Given the description of an element on the screen output the (x, y) to click on. 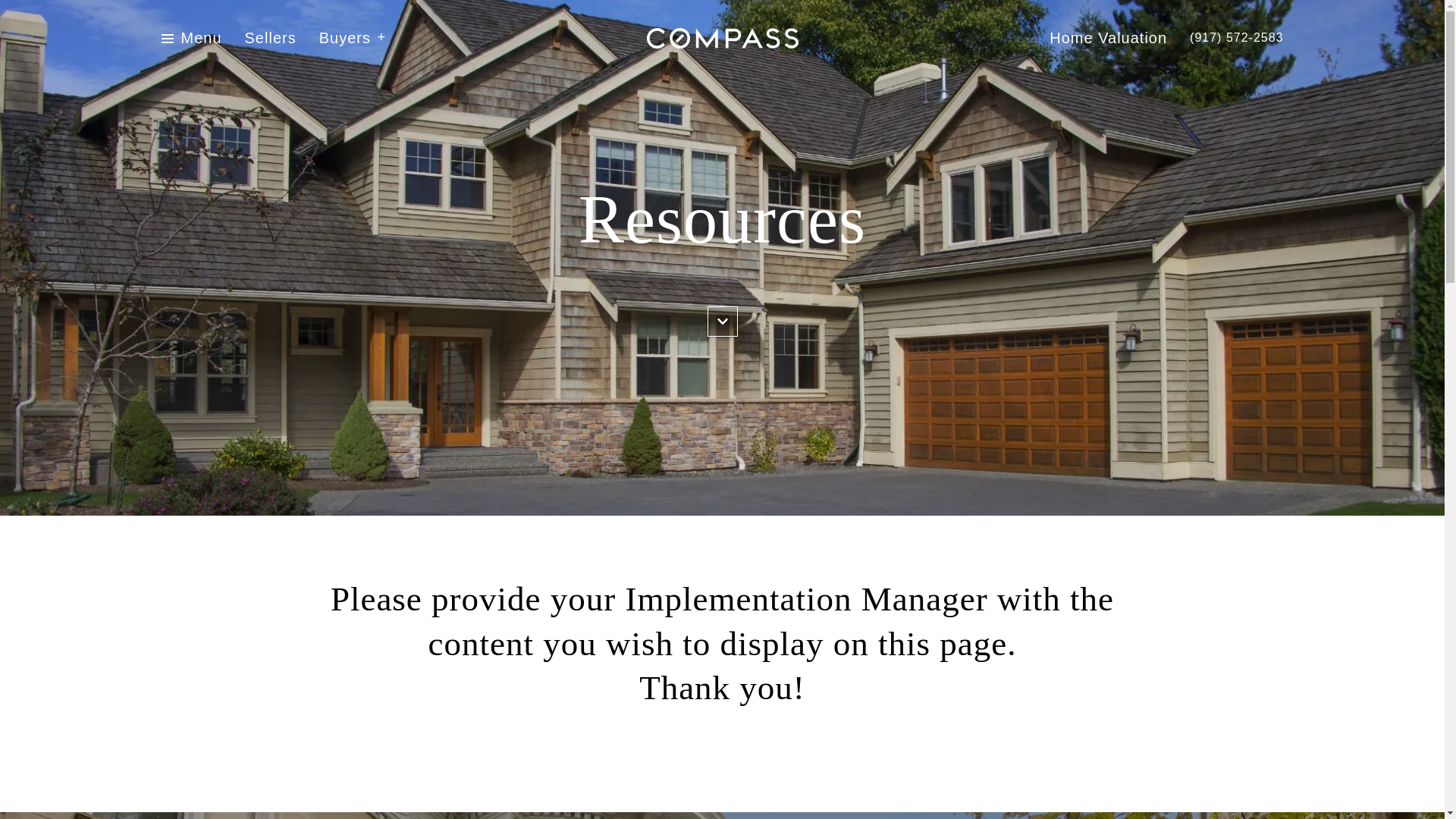
Menu (200, 37)
Sellers (270, 37)
Buyers (351, 37)
Menu (190, 38)
Home Valuation (1108, 37)
